Given the description of an element on the screen output the (x, y) to click on. 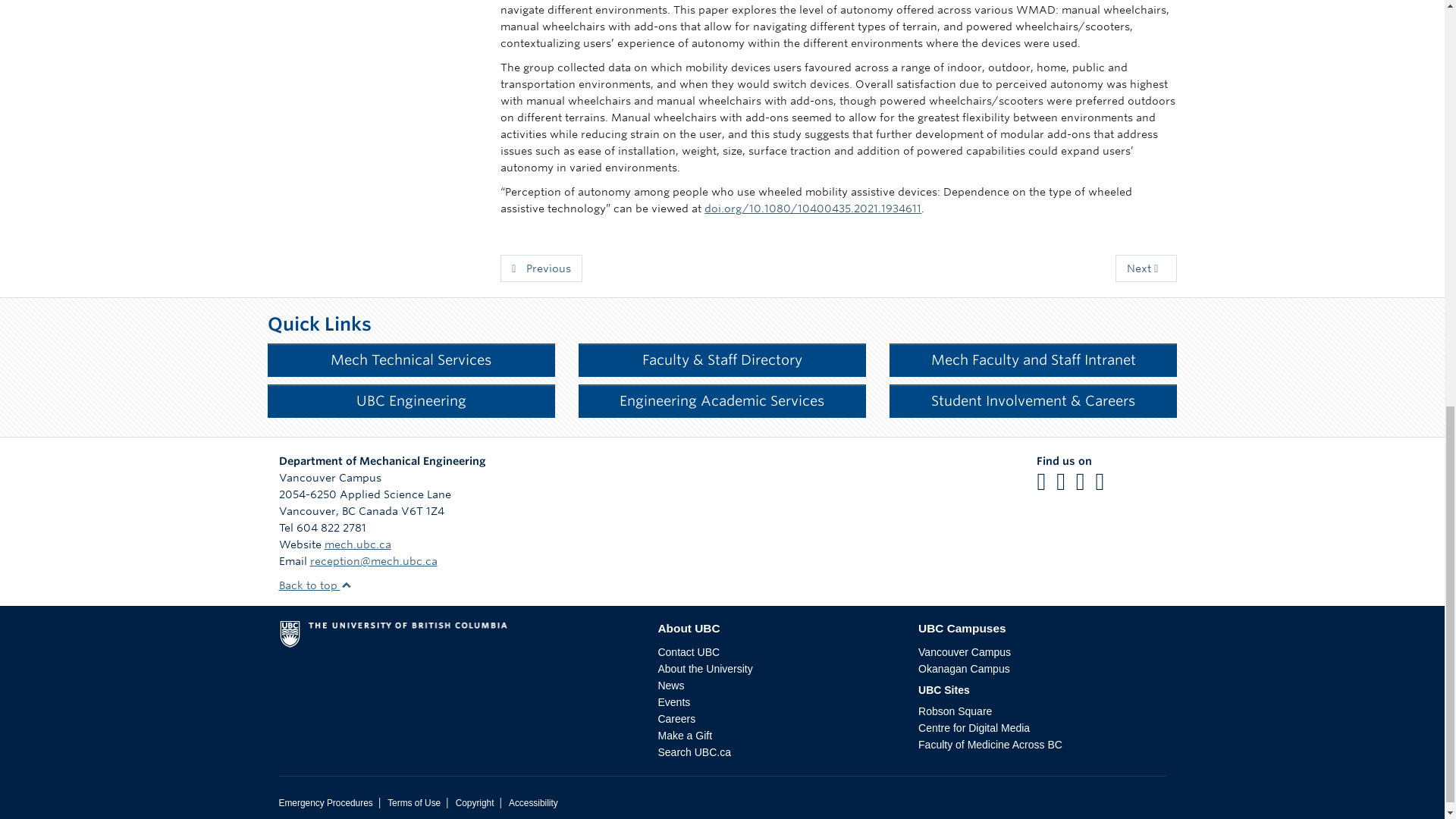
UBC Copyright (475, 802)
Emergency Procedures (325, 802)
Accessibility (532, 802)
Terms of Use (414, 802)
Back to top (315, 585)
